Given the description of an element on the screen output the (x, y) to click on. 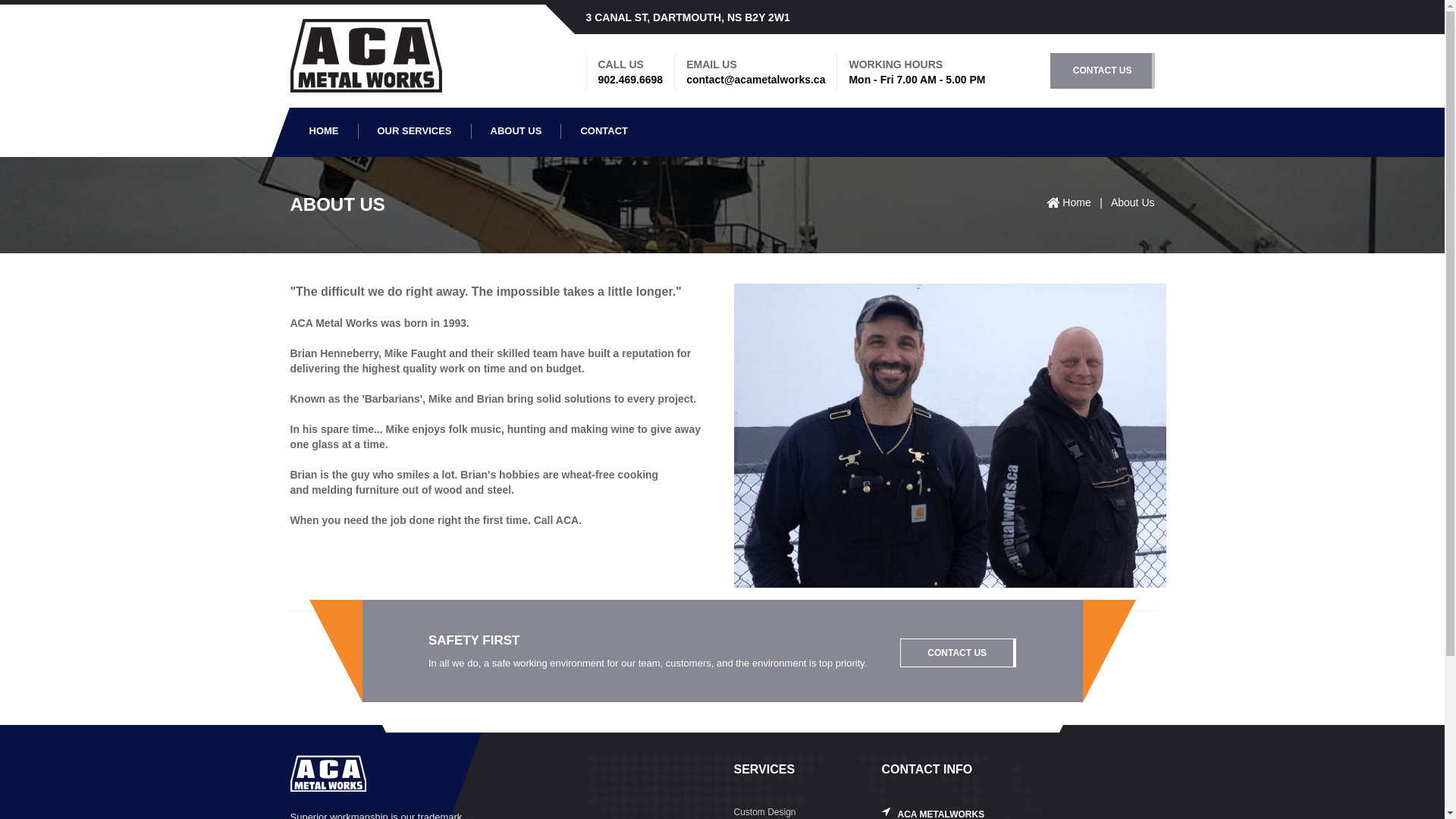
Home Element type: text (1077, 202)
OUR SERVICES Element type: text (413, 130)
CONTACT Element type: text (603, 130)
ABOUT US Element type: text (516, 130)
CONTACT US Element type: text (1102, 70)
CONTACT US Element type: text (958, 652)
HOME Element type: text (323, 130)
